Given the description of an element on the screen output the (x, y) to click on. 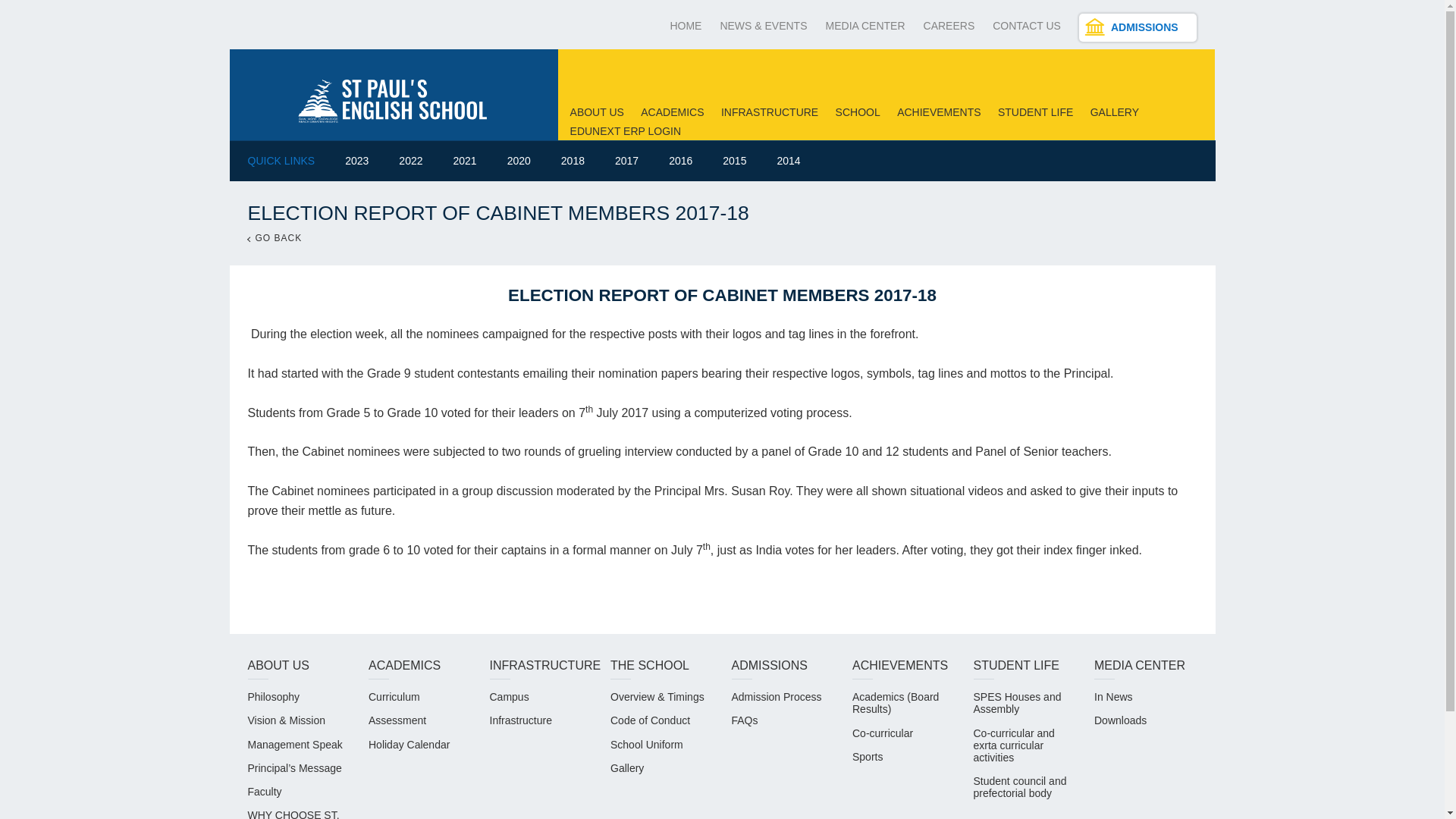
INFRASTRUCTURE (769, 112)
ABOUT US (597, 112)
GALLERY (1114, 112)
ACADEMICS (671, 112)
ACHIEVEMENTS (937, 112)
CONTACT US (1026, 26)
HOME (685, 26)
CAREERS (949, 26)
MEDIA CENTER (865, 26)
STUDENT LIFE (1035, 112)
ADMISSIONS (1137, 27)
SCHOOL (857, 112)
